Given the description of an element on the screen output the (x, y) to click on. 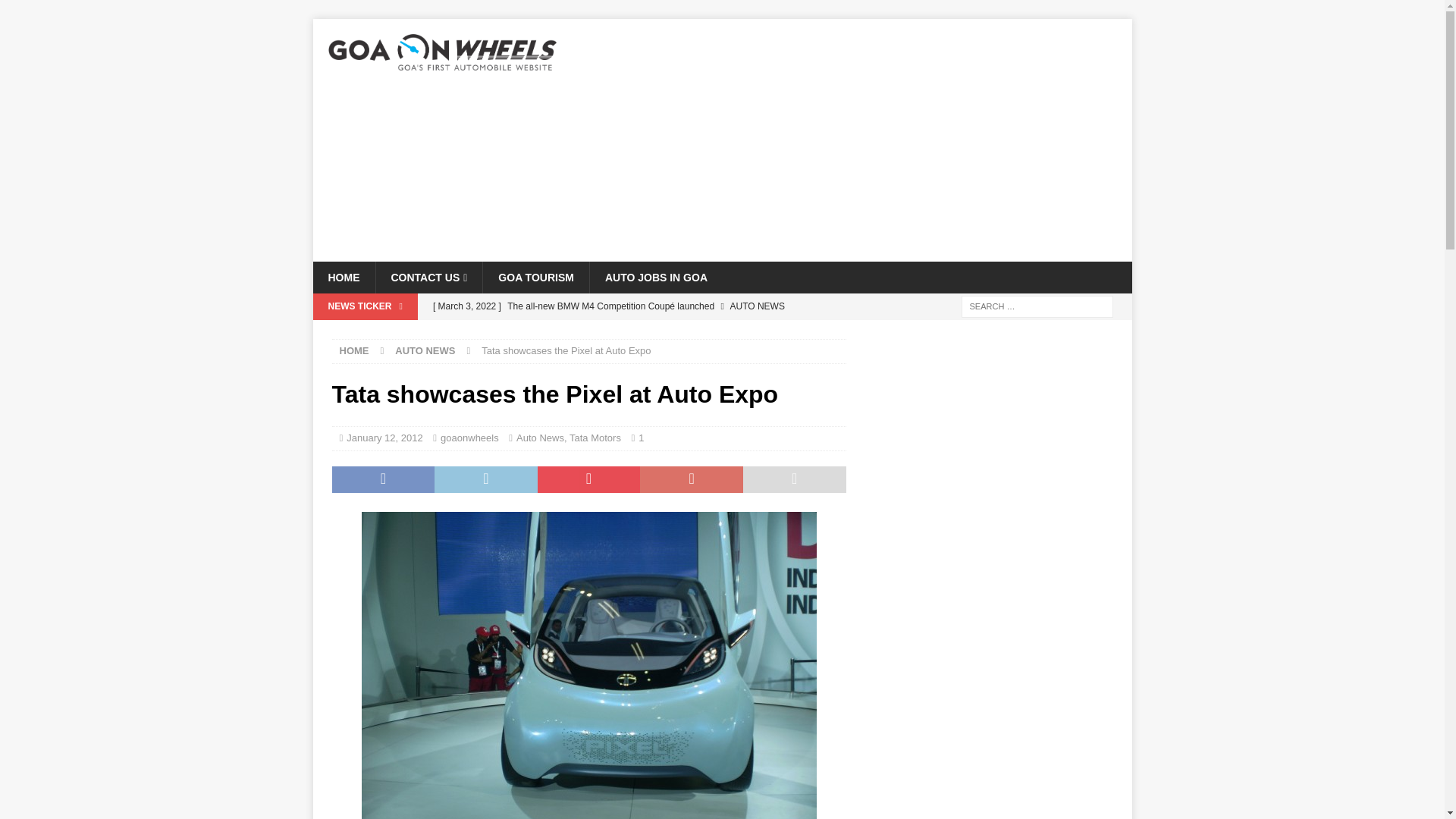
HOME (354, 350)
Auto News (540, 437)
Search (56, 11)
goaonwheels (470, 437)
Tata Motors (595, 437)
AUTO JOBS IN GOA (655, 277)
SP Cars appointed as new dealer for Tata Motors Goa (634, 331)
CONTACT US (427, 277)
January 12, 2012 (384, 437)
GOA TOURISM (535, 277)
